Given the description of an element on the screen output the (x, y) to click on. 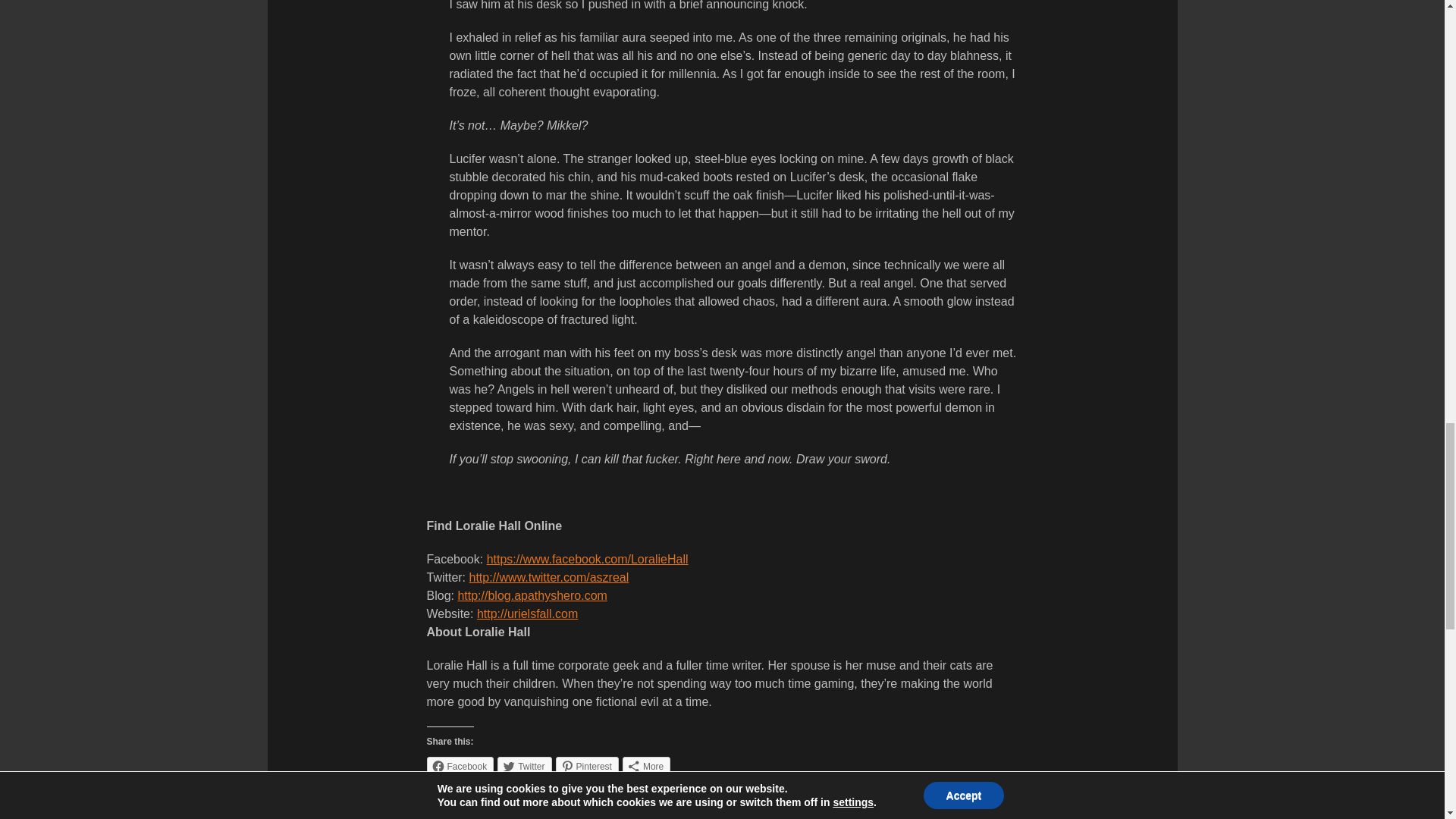
Facebook (459, 766)
Twitter (524, 766)
Click to share on Pinterest (587, 766)
Click to share on Facebook (459, 766)
Click to share on Twitter (524, 766)
Pinterest (587, 766)
